Given the description of an element on the screen output the (x, y) to click on. 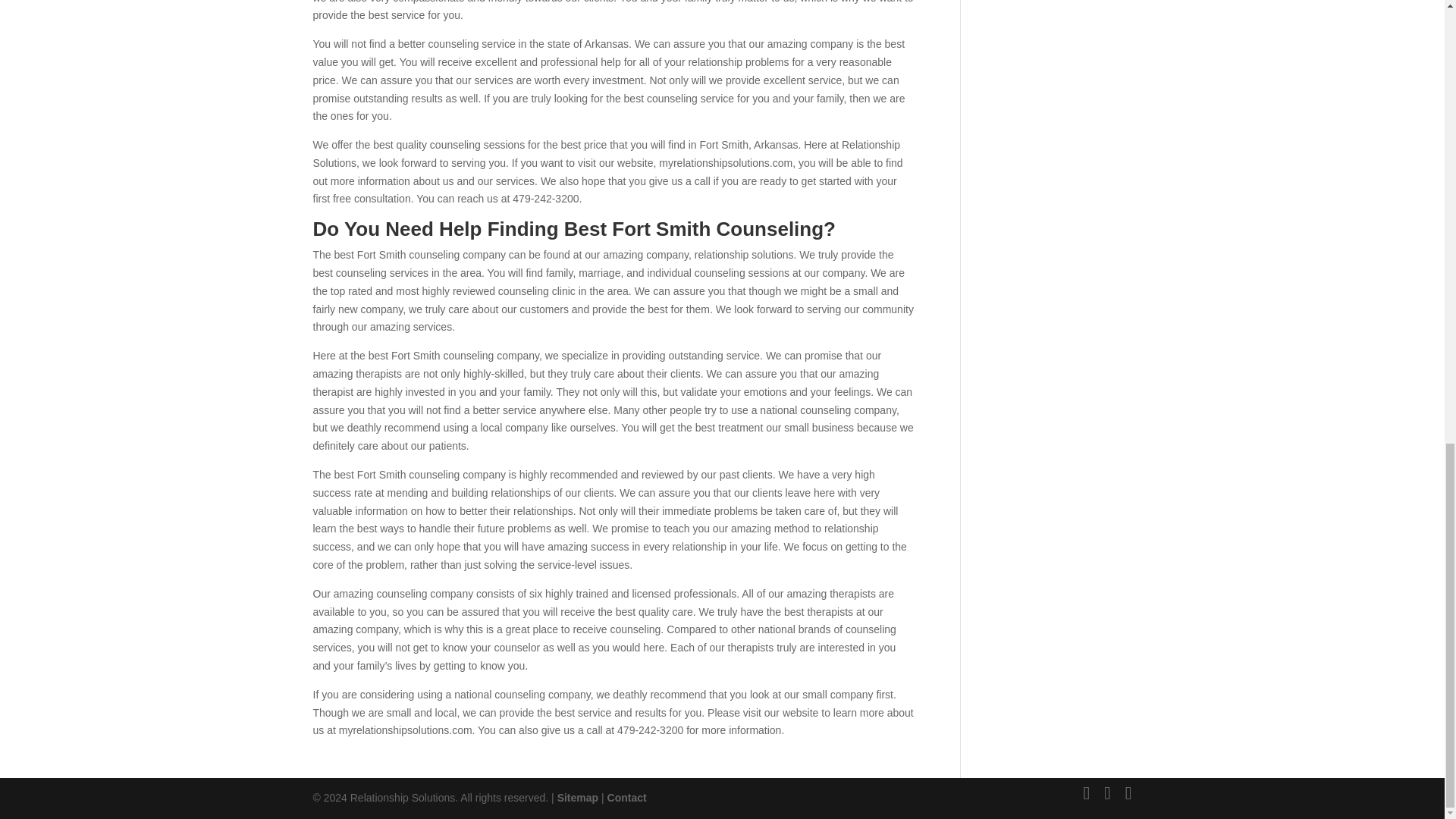
Contact (626, 797)
Sitemap (577, 797)
